Given the description of an element on the screen output the (x, y) to click on. 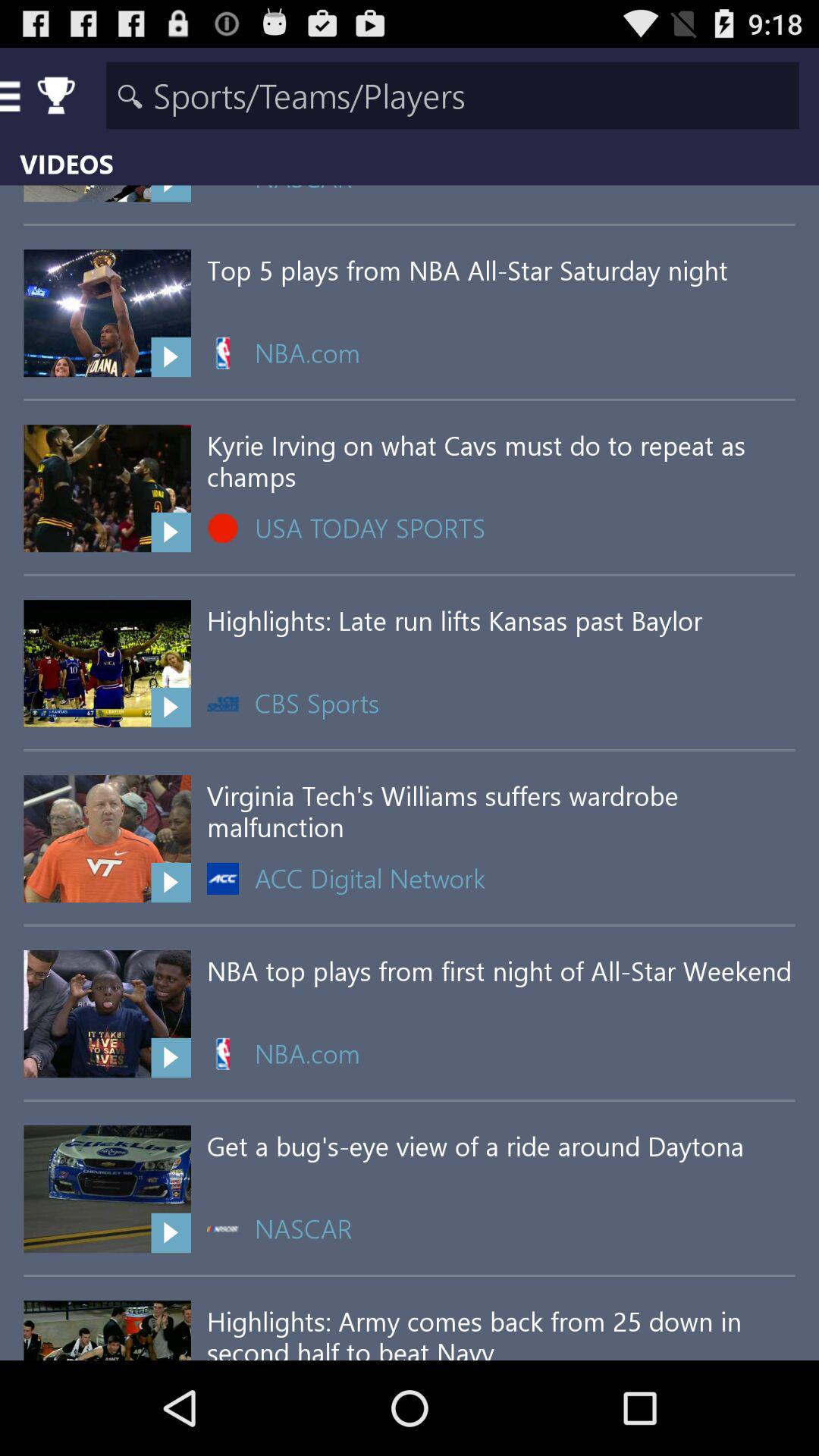
search bar (452, 95)
